Given the description of an element on the screen output the (x, y) to click on. 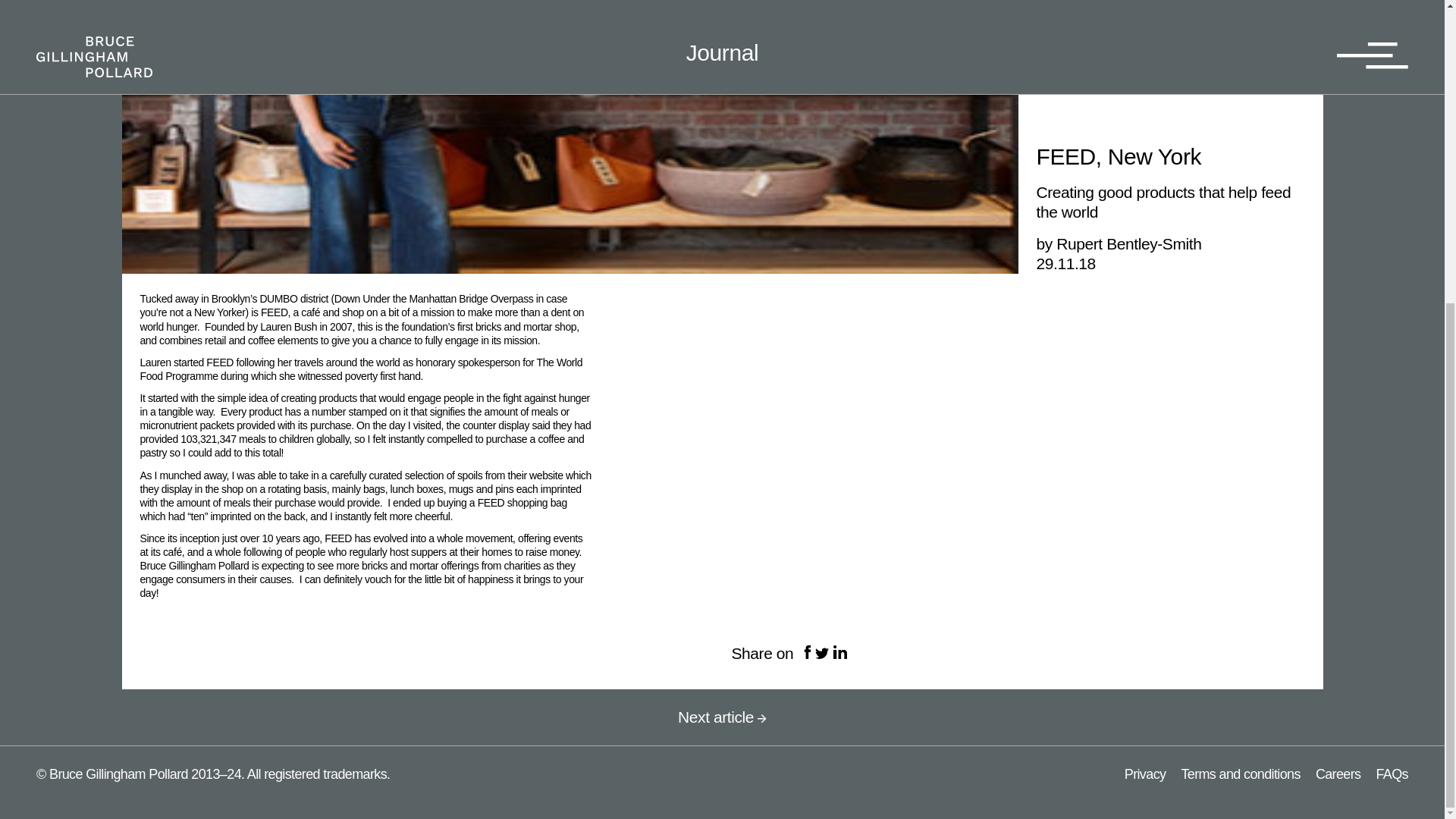
Careers (1338, 774)
FAQs (1391, 774)
Privacy (1145, 774)
Terms and conditions (1240, 774)
Next article (722, 717)
